Given the description of an element on the screen output the (x, y) to click on. 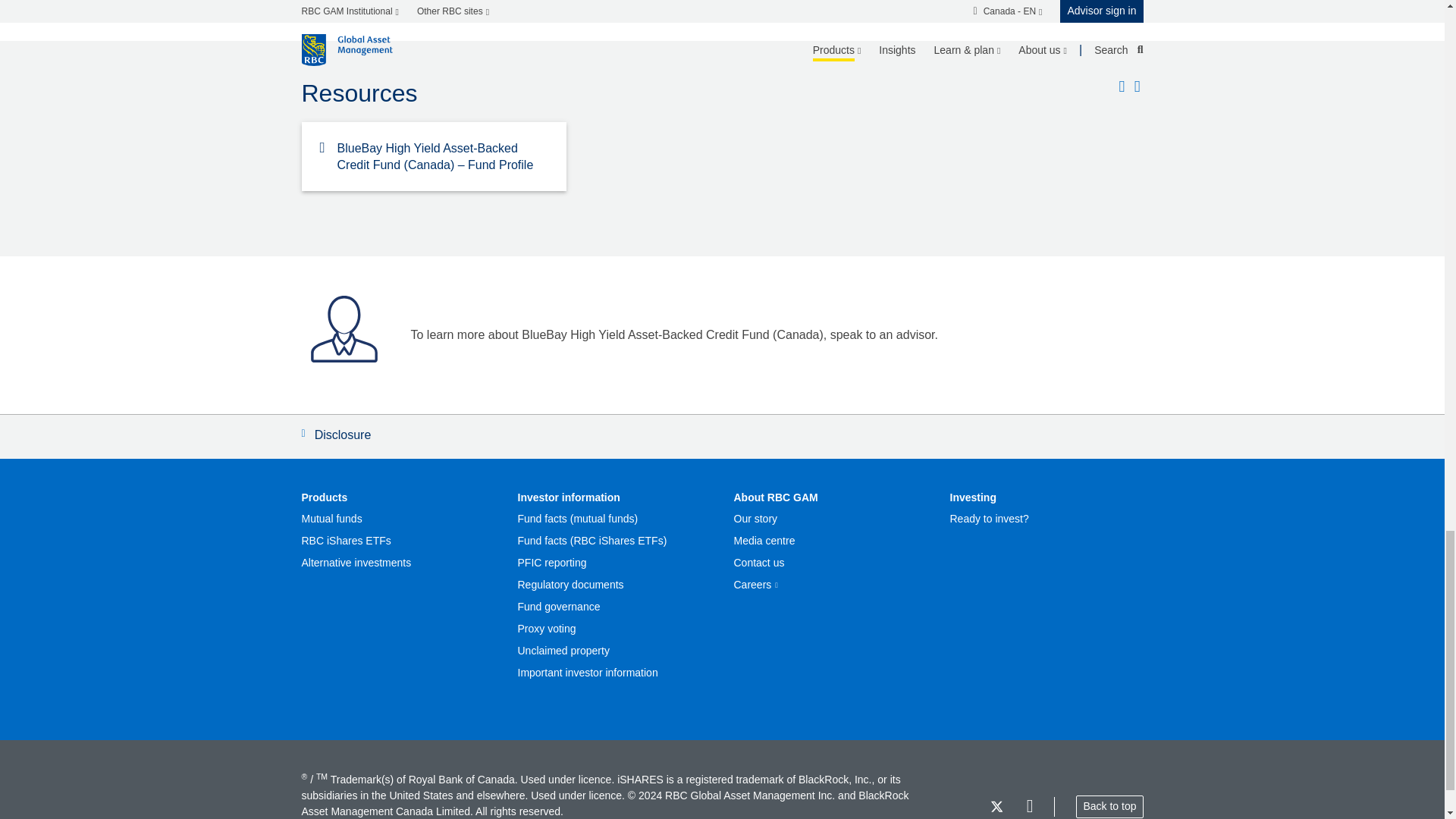
Our story (755, 518)
PFIC reporting (551, 562)
Important investor information (587, 672)
Proxy voting (545, 628)
Mutual funds (331, 518)
Regulatory documents (569, 584)
Media centre (763, 540)
Contact us (758, 562)
Unclaimed property (562, 650)
Alternative investments (356, 562)
Careers (755, 584)
Disclosure (721, 436)
RBC iShares ETFs (346, 540)
Fund governance (557, 606)
Ready to invest? (988, 518)
